Given the description of an element on the screen output the (x, y) to click on. 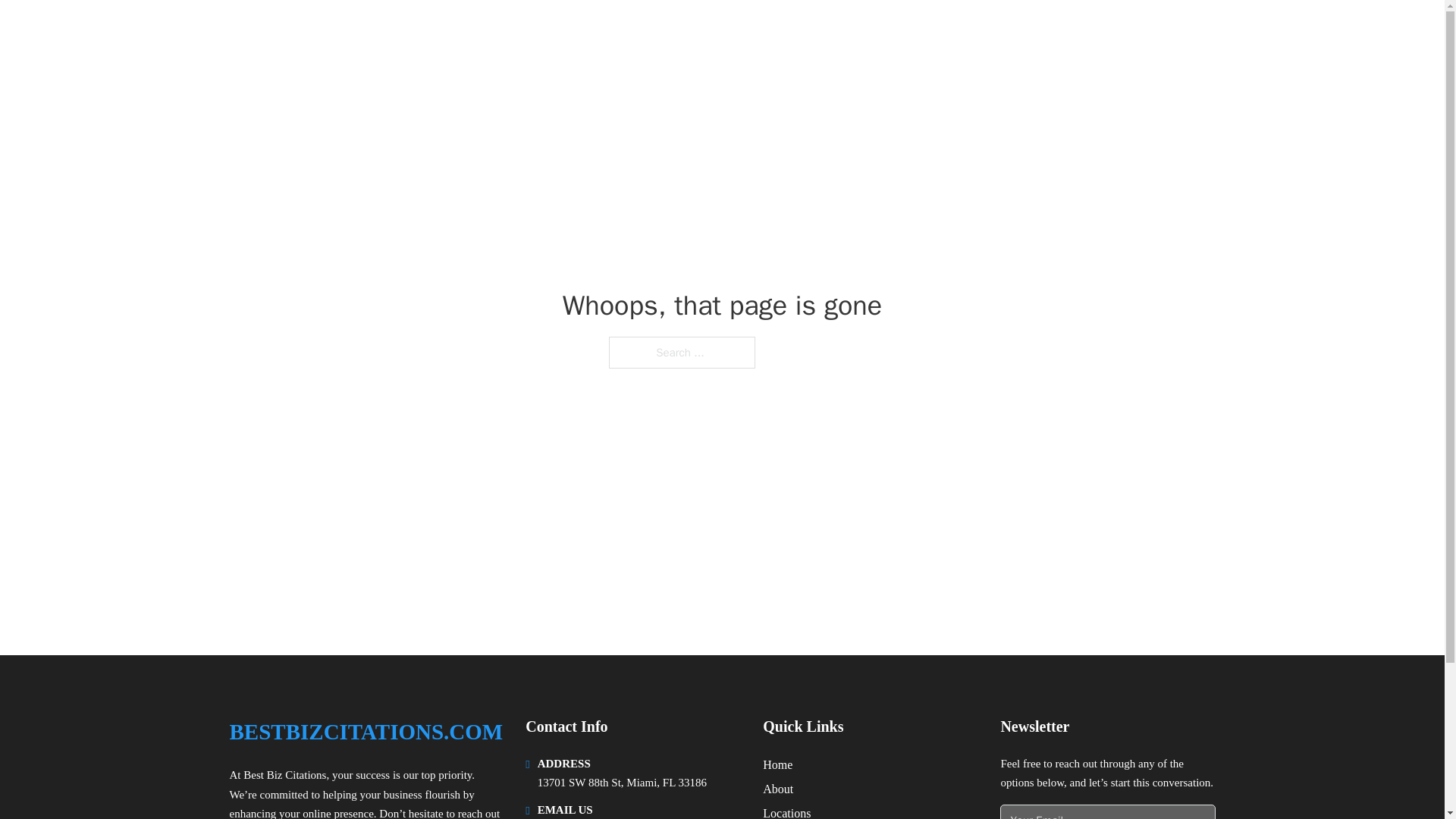
BESTBIZCITATIONS.COM (379, 31)
LOCATIONS (1098, 31)
BESTBIZCITATIONS.COM (365, 732)
Locations (786, 811)
HOME (1025, 31)
About (777, 788)
Home (777, 764)
